Given the description of an element on the screen output the (x, y) to click on. 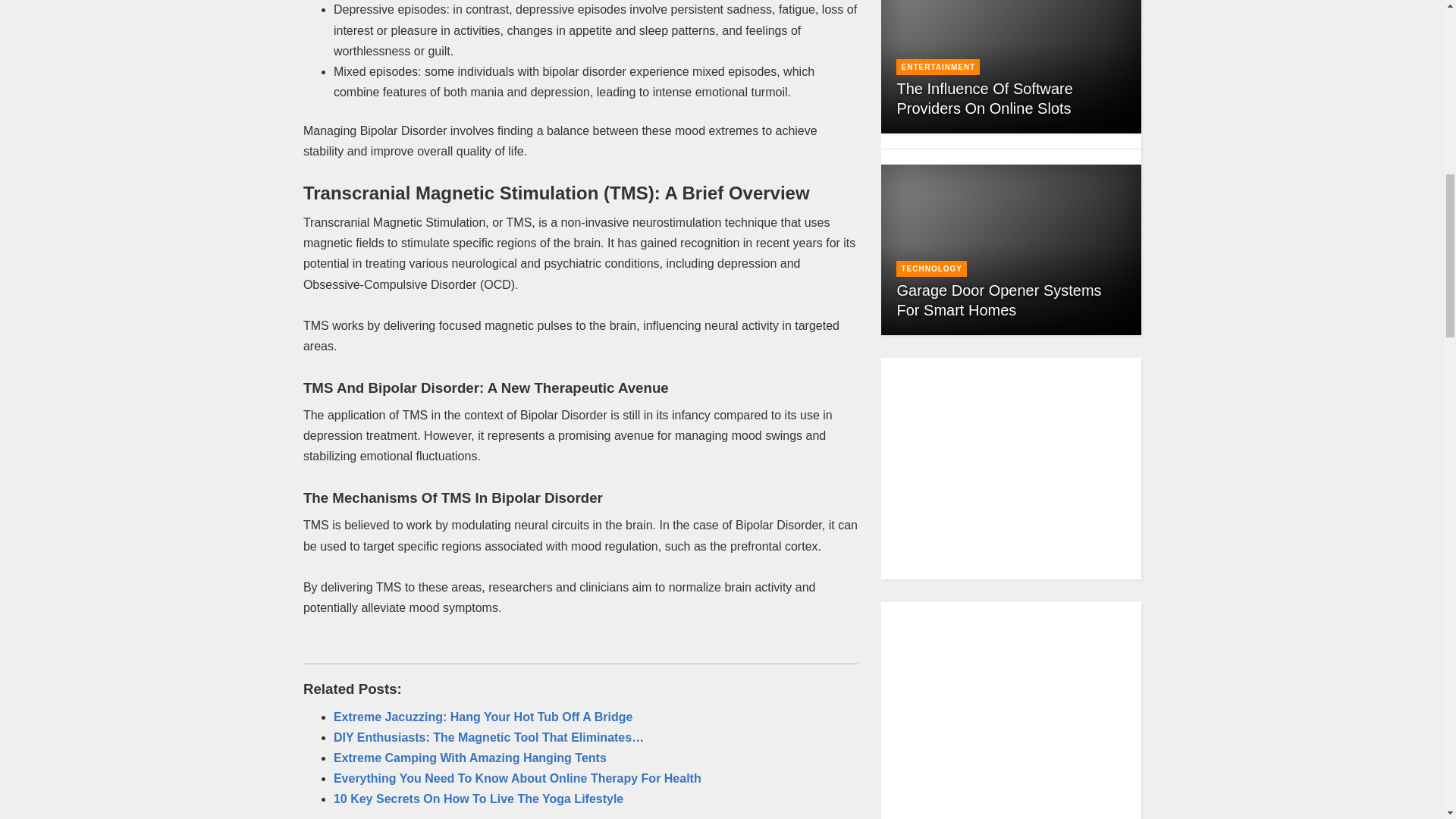
The Influence Of Software Providers On Online Slots (983, 98)
Everything You Need To Know About Online Therapy For Health (517, 778)
Extreme Camping With Amazing Hanging Tents (470, 757)
Extreme Jacuzzing: Hang Your Hot Tub Off A Bridge (482, 716)
10 Key Secrets On How To Live The Yoga Lifestyle (478, 798)
Garage Door Opener Systems For Smart Homes (998, 299)
